Given the description of an element on the screen output the (x, y) to click on. 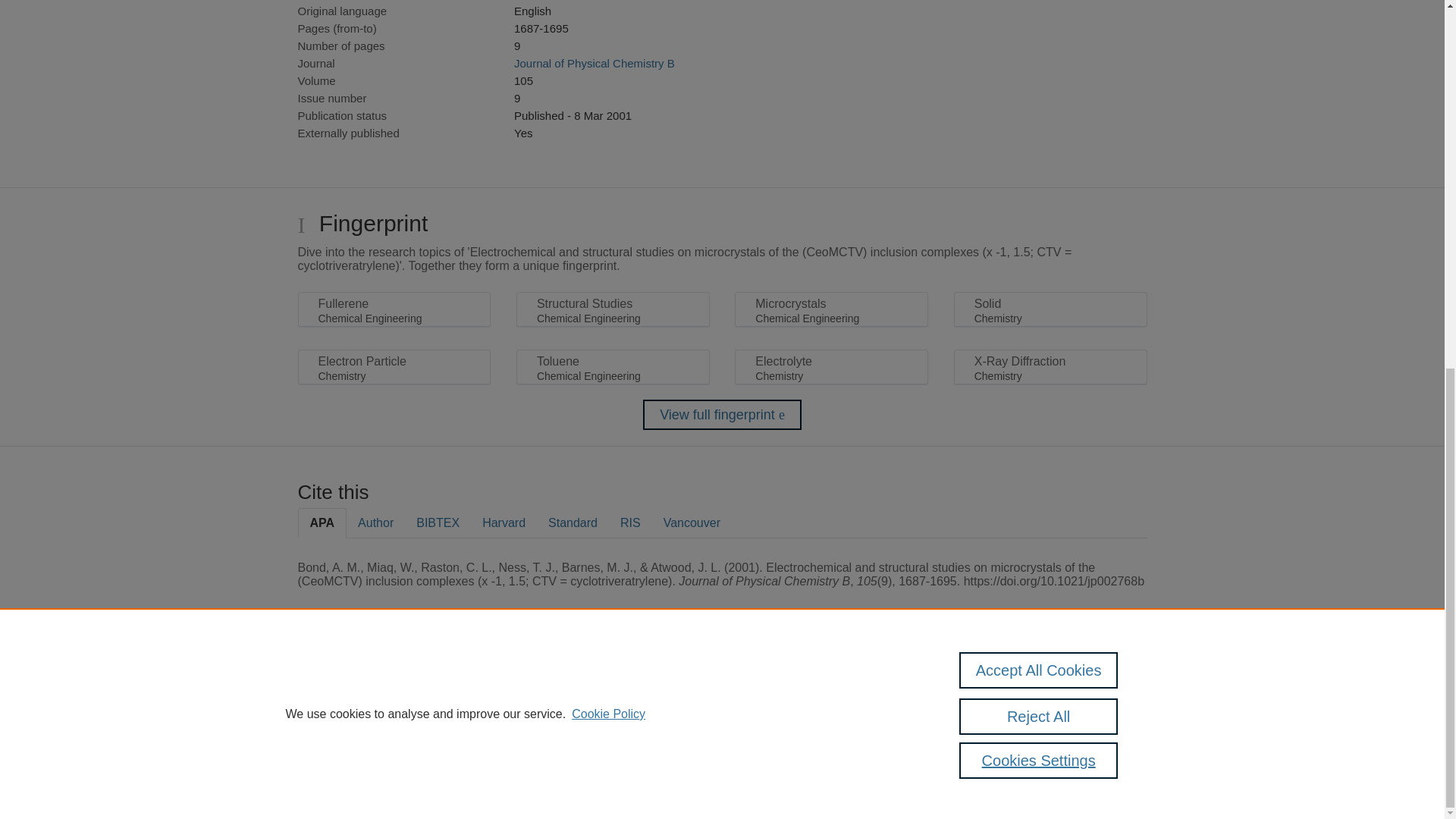
Journal of Physical Chemistry B (594, 62)
About web accessibility (1090, 692)
Cookies Settings (334, 760)
Pure (362, 686)
Scopus (394, 686)
use of cookies (796, 739)
View full fingerprint (722, 414)
Elsevier B.V. (506, 707)
Report vulnerability (1090, 724)
Log in to ResearchNow (347, 781)
